Given the description of an element on the screen output the (x, y) to click on. 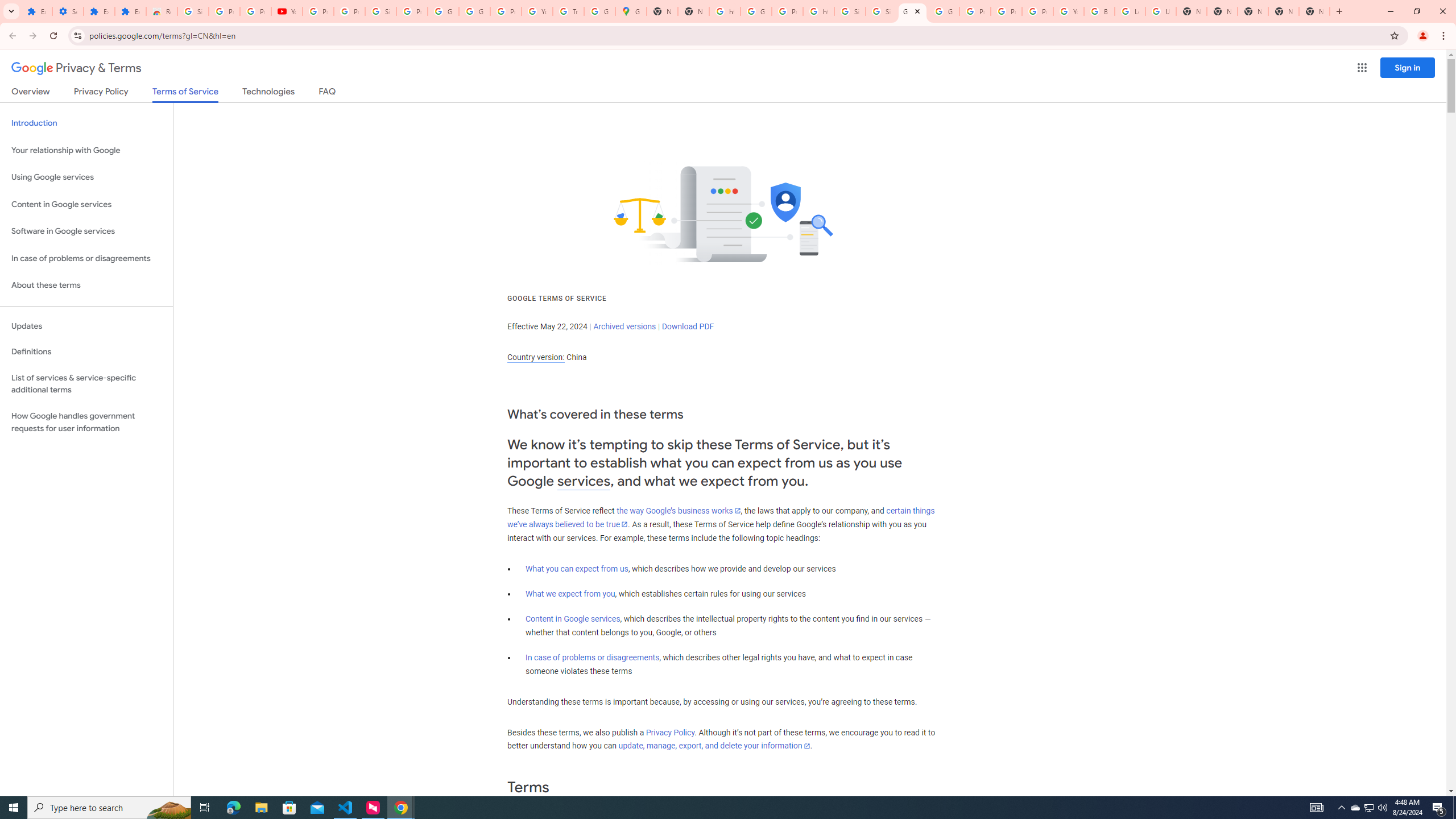
About these terms (86, 284)
Sign in - Google Accounts (192, 11)
Privacy Help Center - Policies Help (1005, 11)
Your relationship with Google (86, 150)
https://scholar.google.com/ (724, 11)
Settings (67, 11)
Sign in - Google Accounts (881, 11)
